Given the description of an element on the screen output the (x, y) to click on. 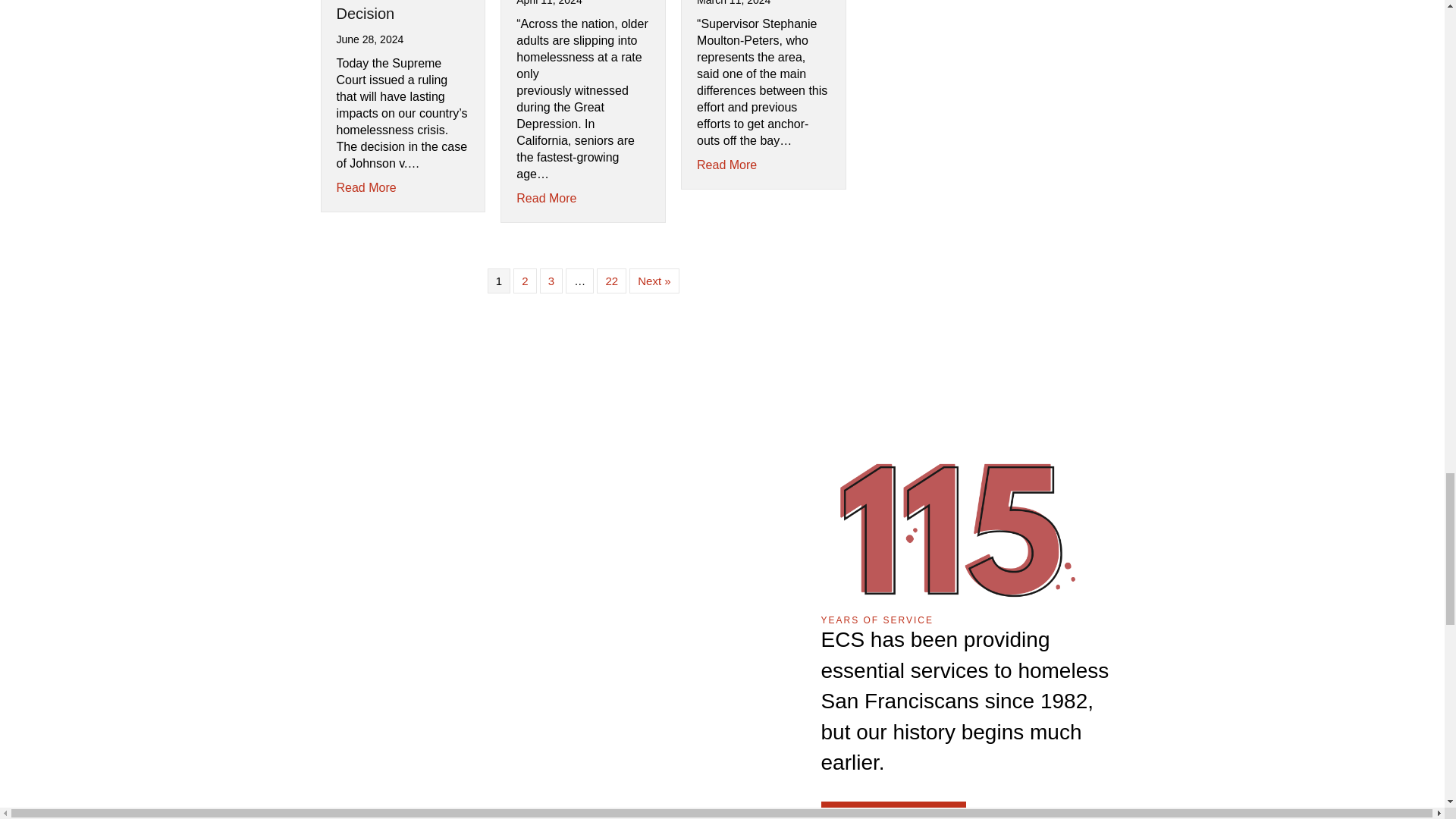
115years-01 (956, 524)
